Given the description of an element on the screen output the (x, y) to click on. 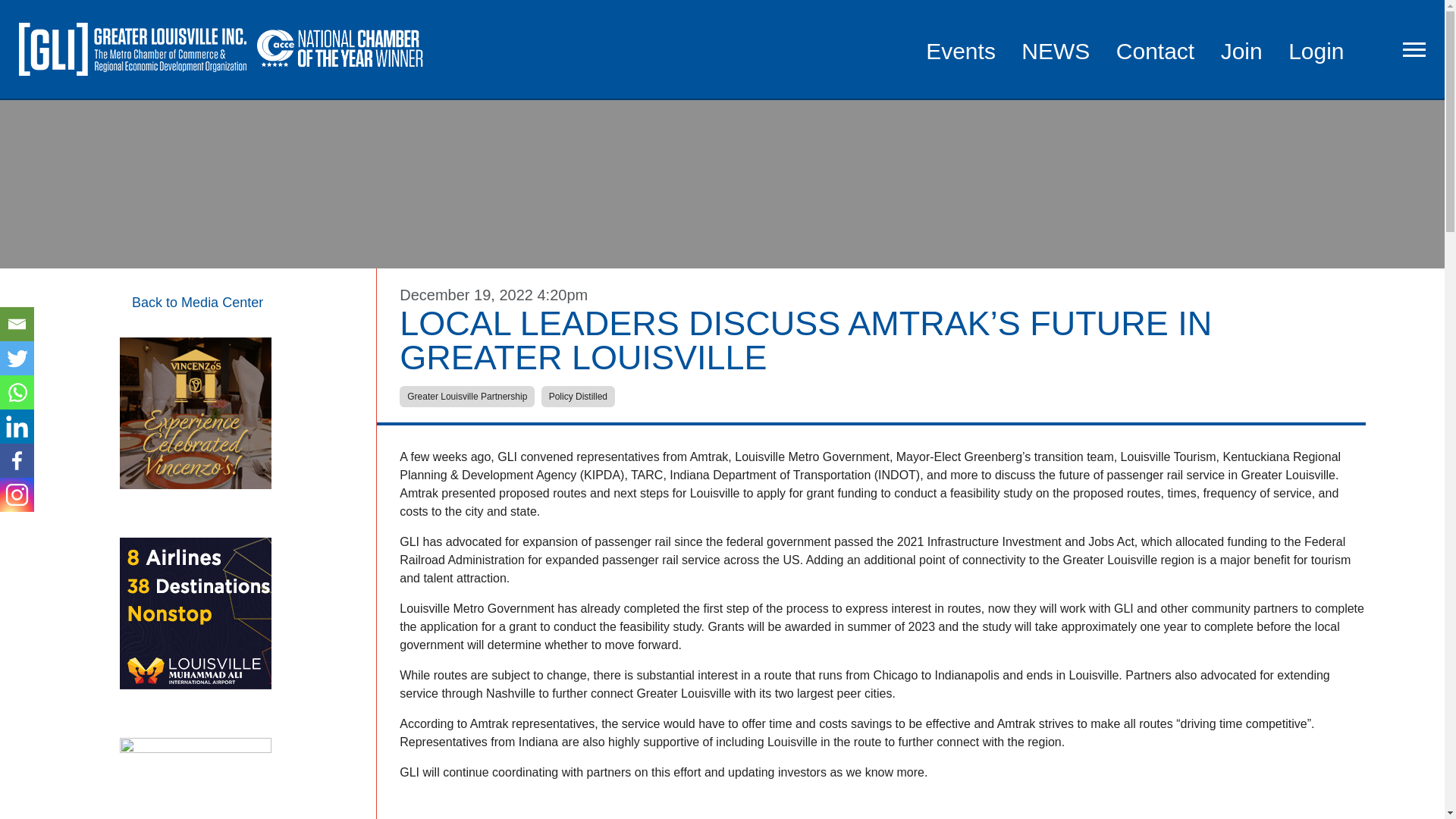
Whatsapp (16, 392)
NEWS (1055, 50)
Email (16, 324)
Contact (1154, 50)
Twitter (16, 358)
Login (1315, 50)
Join (1241, 50)
Instagram (16, 494)
Events (960, 50)
Linkedin (16, 426)
